Given the description of an element on the screen output the (x, y) to click on. 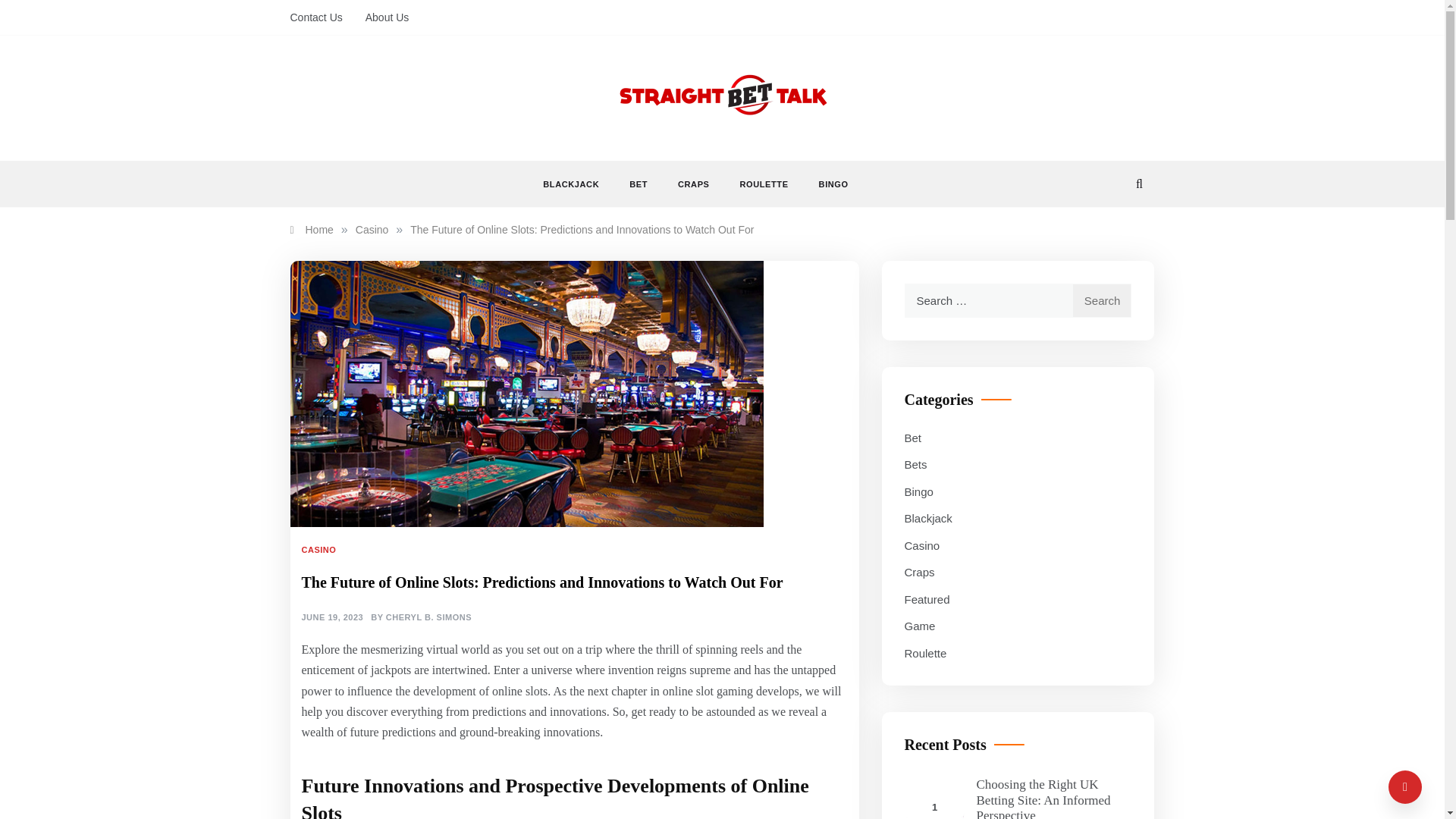
JUNE 19, 2023 (332, 617)
Search (1101, 300)
Bets (915, 465)
Game (919, 626)
Blackjack (928, 518)
CHERYL B. SIMONS (428, 617)
BET (638, 184)
CRAPS (693, 184)
Casino (371, 229)
About Us (381, 17)
